Given the description of an element on the screen output the (x, y) to click on. 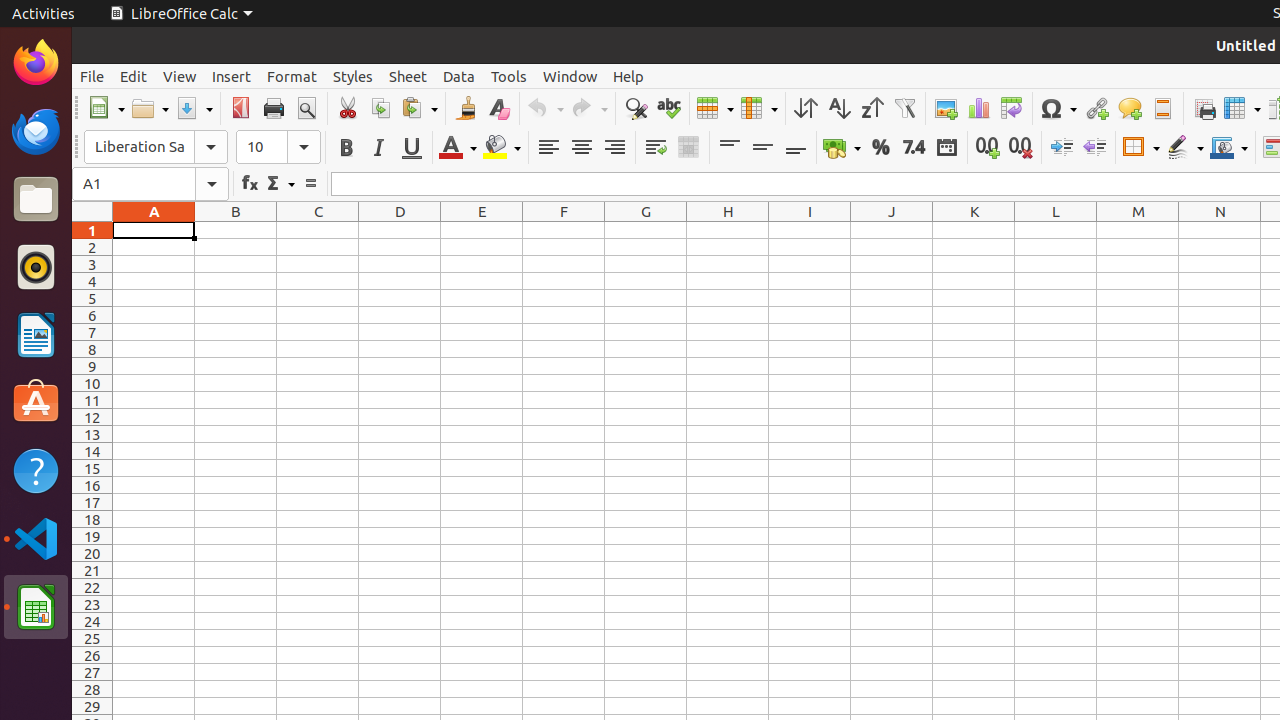
J1 Element type: table-cell (892, 230)
Hyperlink Element type: toggle-button (1096, 108)
I1 Element type: table-cell (810, 230)
Currency Element type: push-button (842, 147)
Copy Element type: push-button (380, 108)
